Given the description of an element on the screen output the (x, y) to click on. 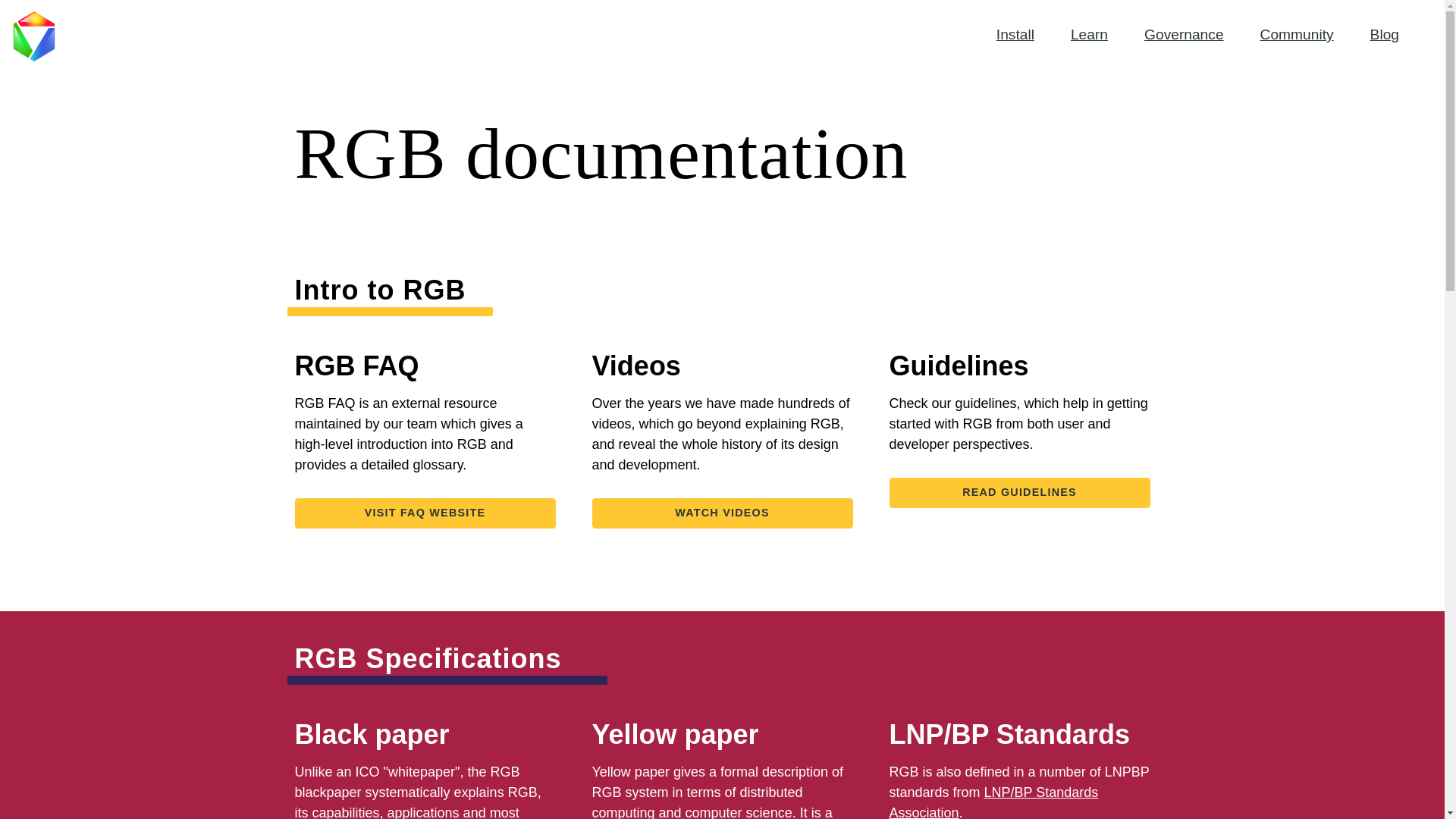
VISIT FAQ WEBSITE (424, 512)
Learn (1089, 34)
READ GUIDELINES (1019, 492)
Blog (1384, 34)
WATCH VIDEOS (721, 512)
Community (1296, 34)
Governance (1184, 34)
Install (1014, 34)
